Given the description of an element on the screen output the (x, y) to click on. 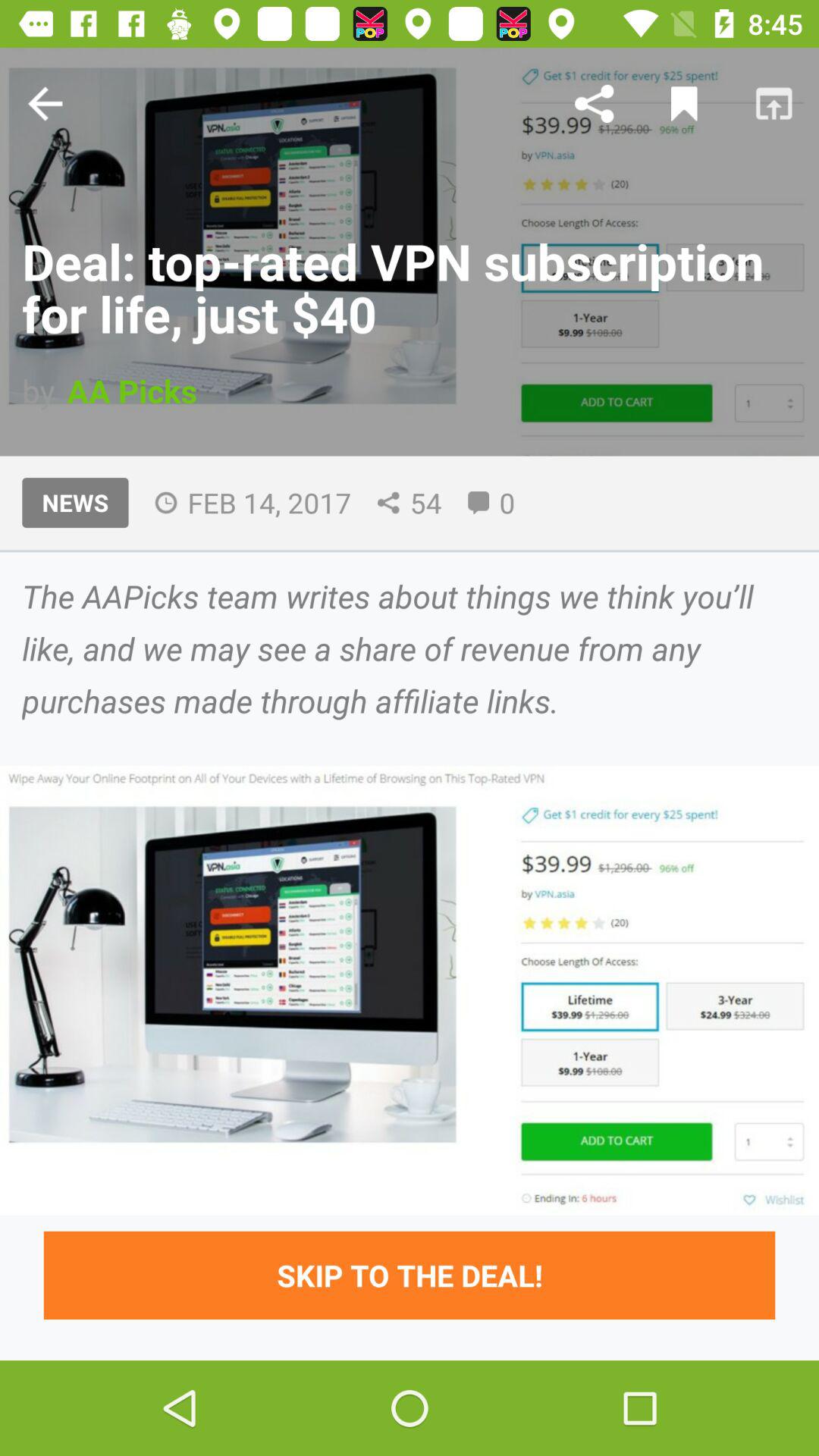
turn on icon above deal top rated icon (684, 103)
